Given the description of an element on the screen output the (x, y) to click on. 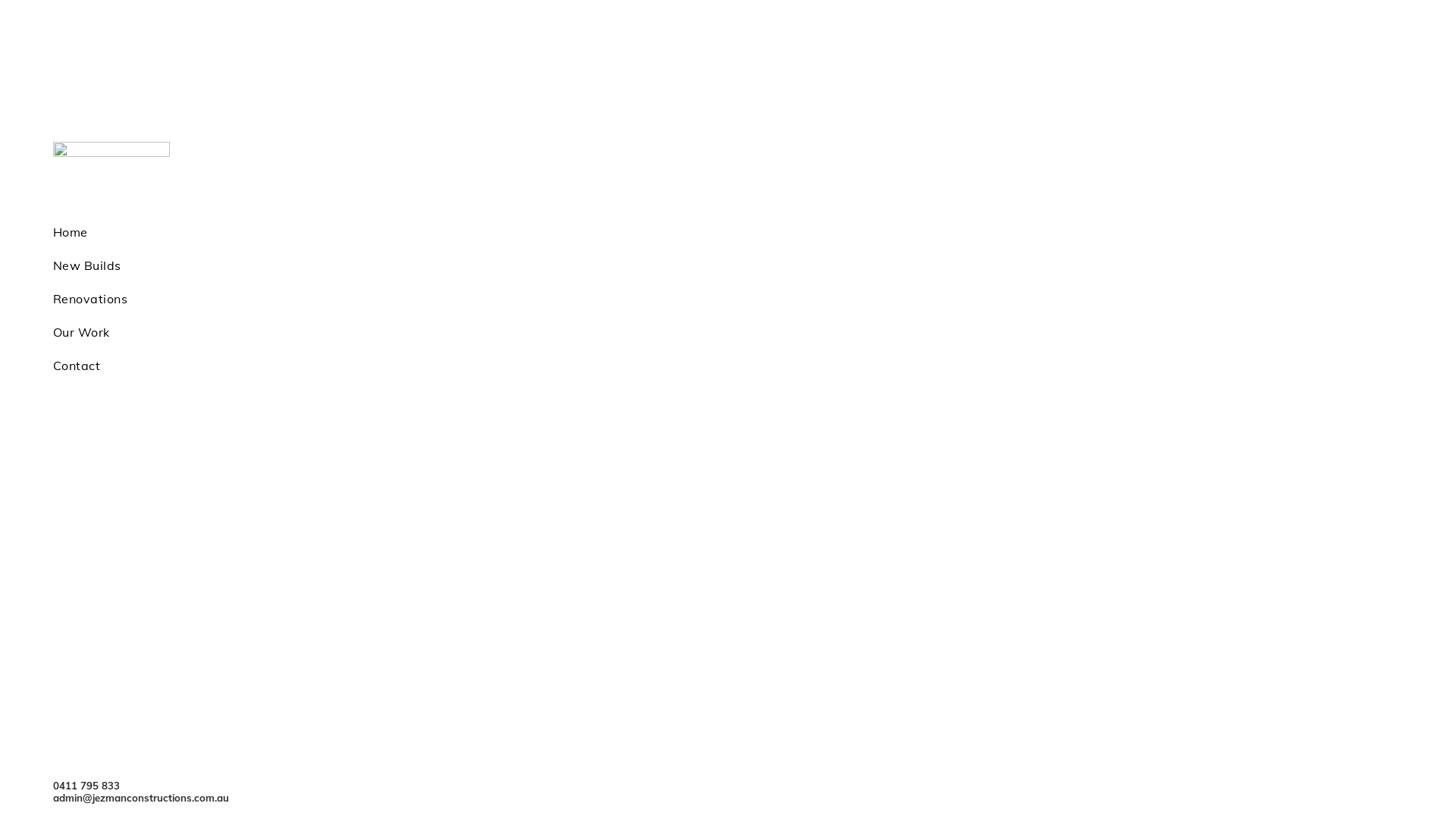
Contact Element type: text (417, 365)
Renovations Element type: text (417, 298)
Our Work Element type: text (417, 331)
Home Element type: text (417, 231)
0411 795 833 Element type: text (86, 785)
admin@jezmanconstructions.com.au Element type: text (141, 797)
New Builds Element type: text (417, 265)
